Given the description of an element on the screen output the (x, y) to click on. 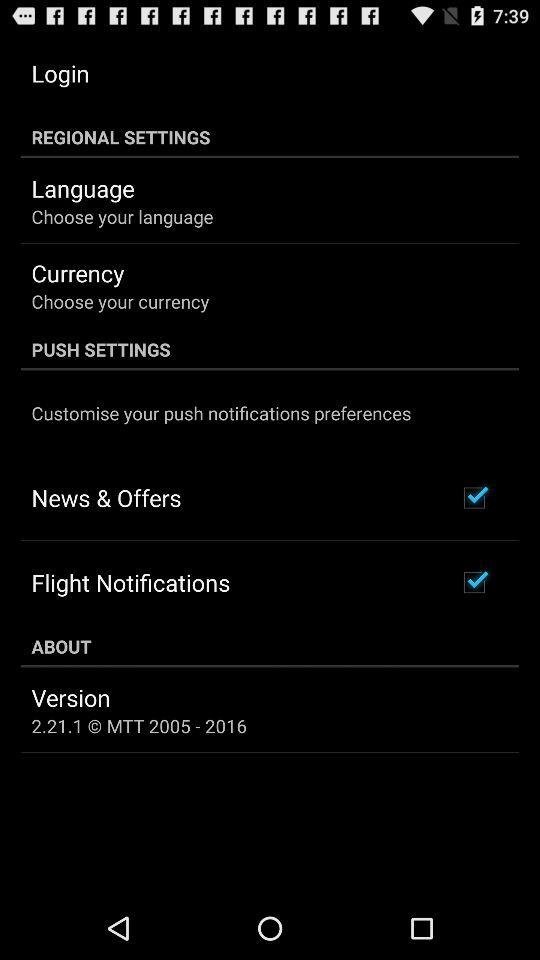
jump to about (270, 646)
